Given the description of an element on the screen output the (x, y) to click on. 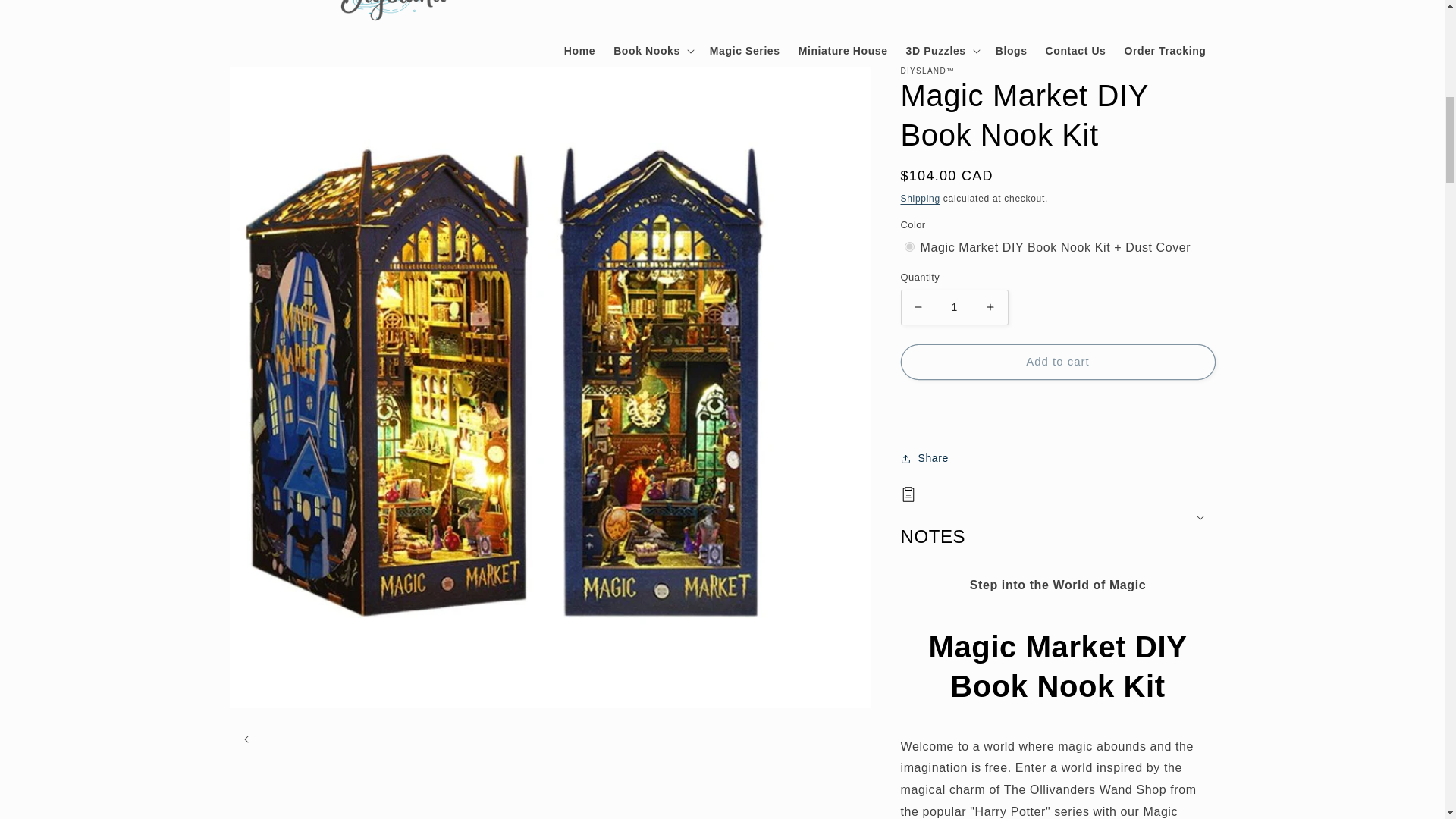
1 (955, 307)
Magic Series (744, 50)
Home (579, 50)
Miniature House (842, 50)
